Given the description of an element on the screen output the (x, y) to click on. 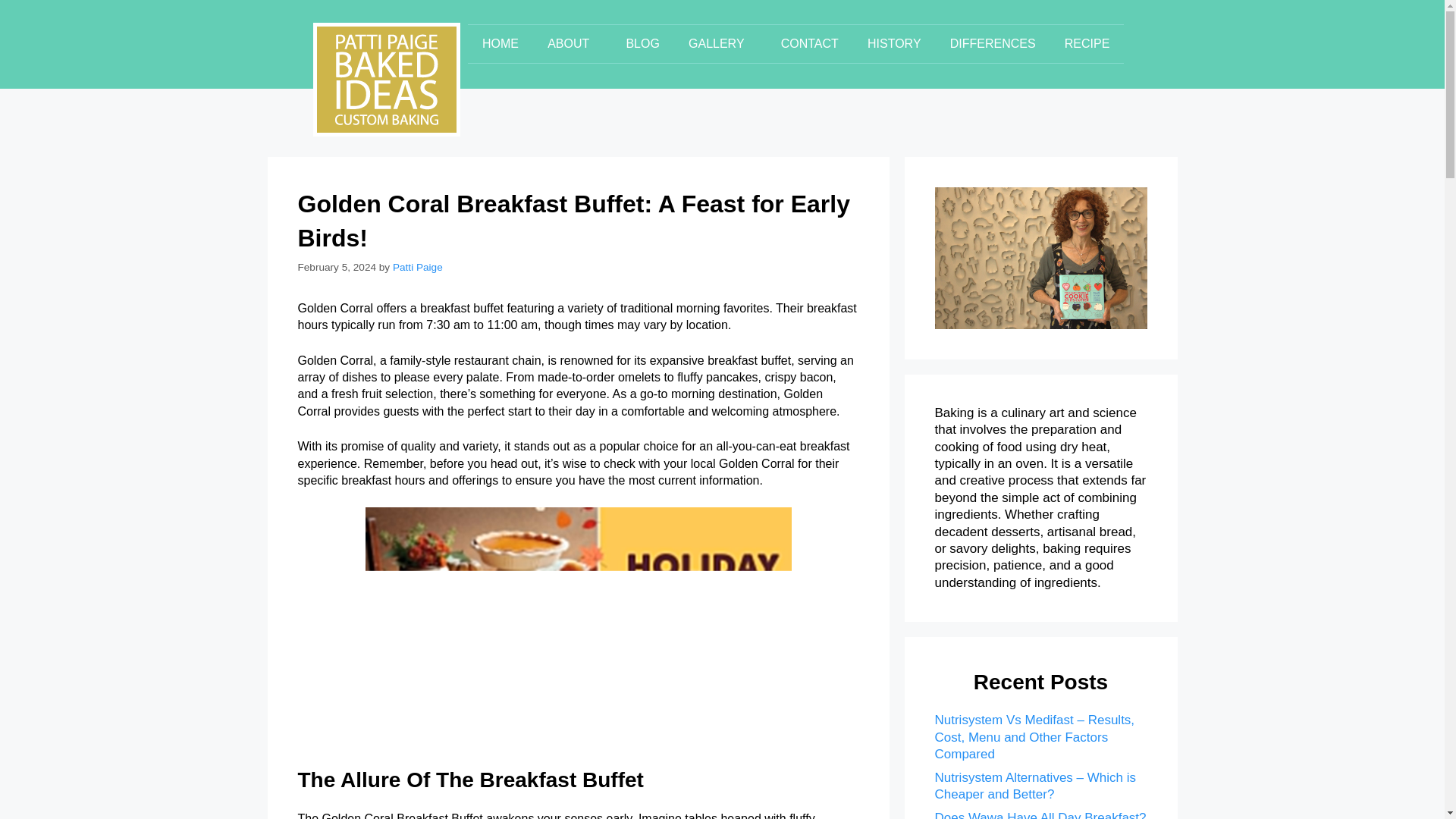
ABOUT (571, 43)
View all posts by Patti Paige (417, 266)
Patti Paige (417, 266)
RECIPE (1086, 43)
BLOG (642, 43)
DIFFERENCES (992, 43)
GALLERY (720, 43)
CONTACT (810, 43)
HISTORY (894, 43)
HOME (499, 43)
